Given the description of an element on the screen output the (x, y) to click on. 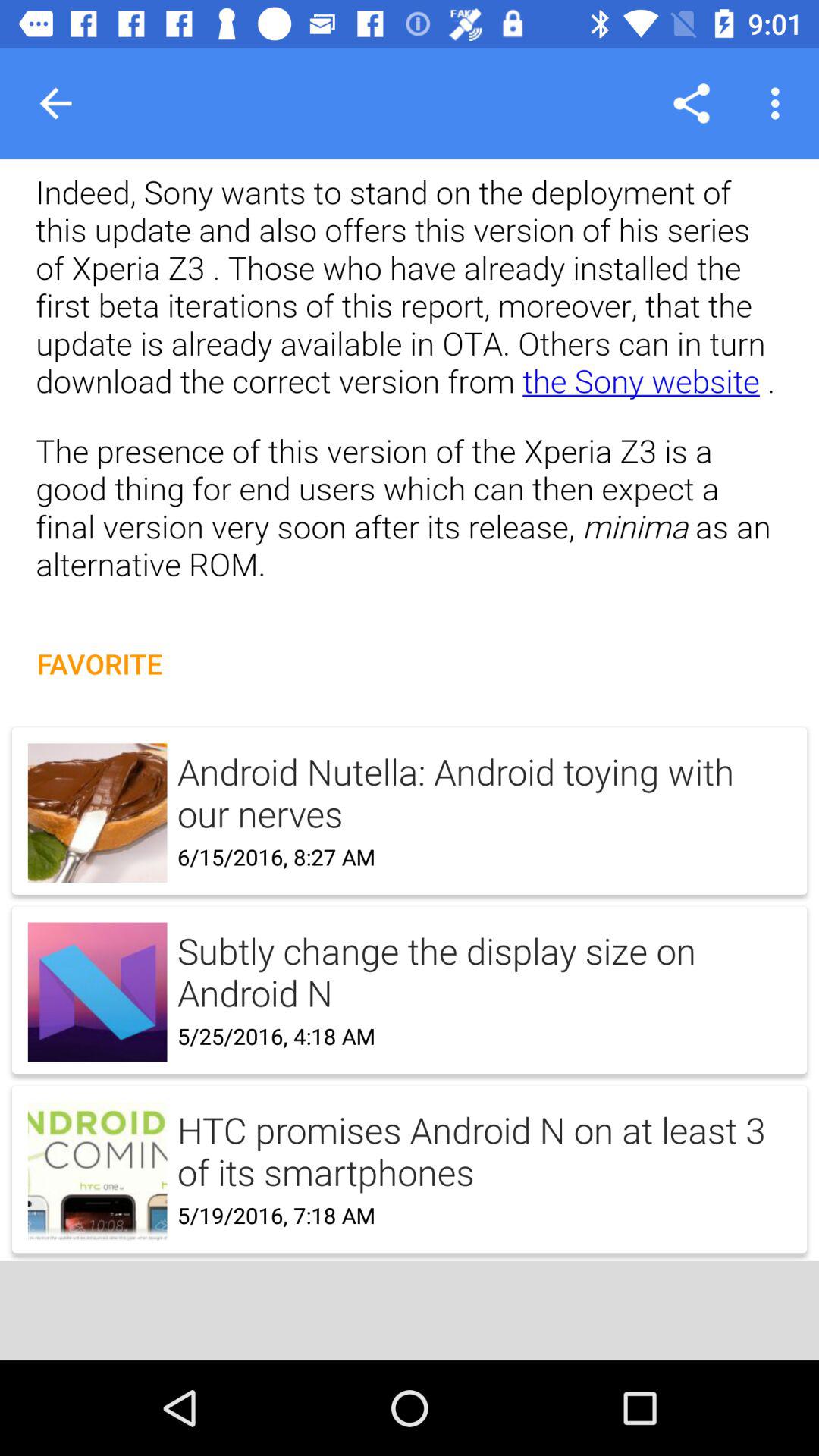
favorite (409, 973)
